Given the description of an element on the screen output the (x, y) to click on. 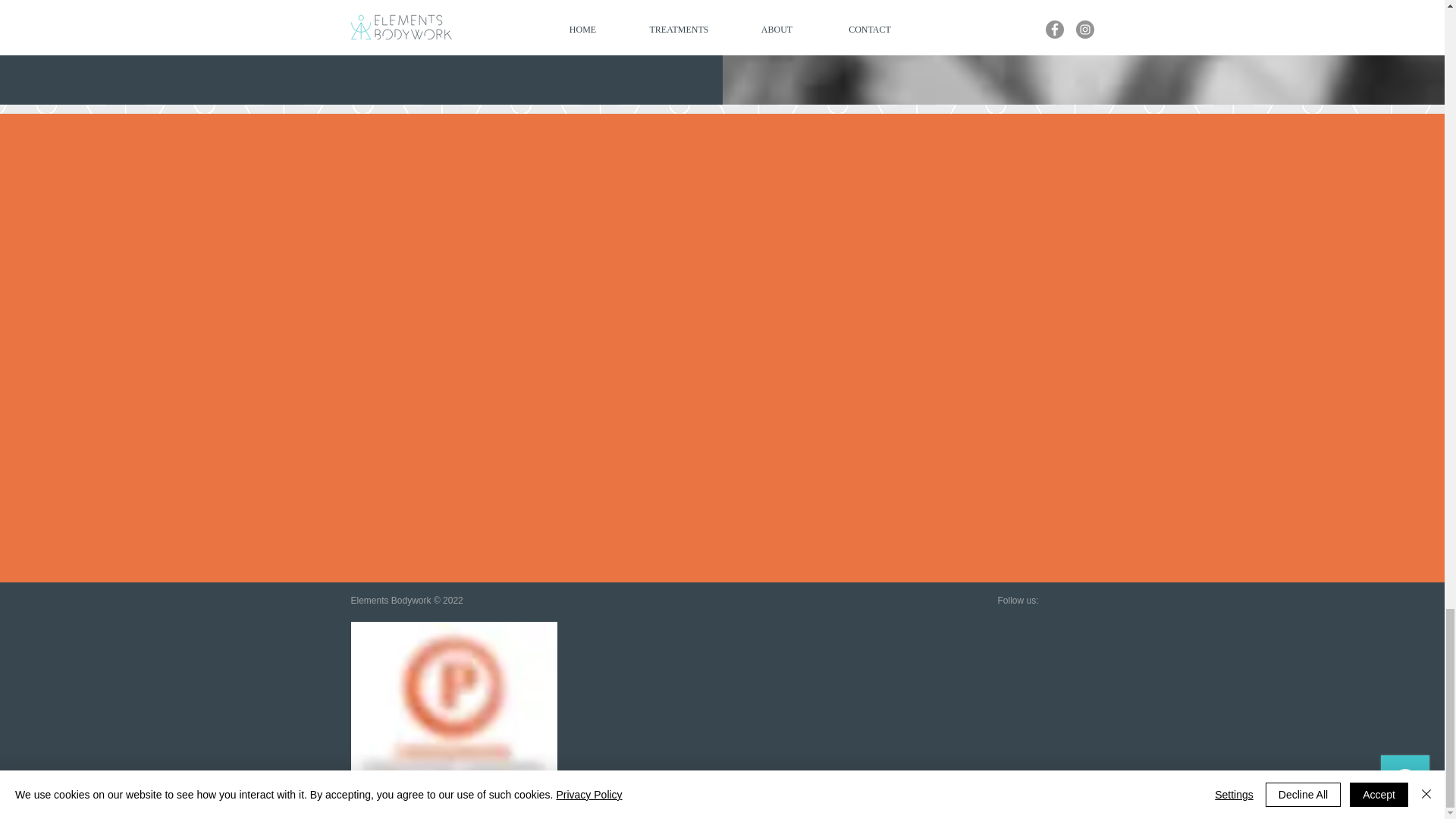
783bc82b-d504-42e0-a9a9-4153e7d2ef52.jpg (453, 717)
